Given the description of an element on the screen output the (x, y) to click on. 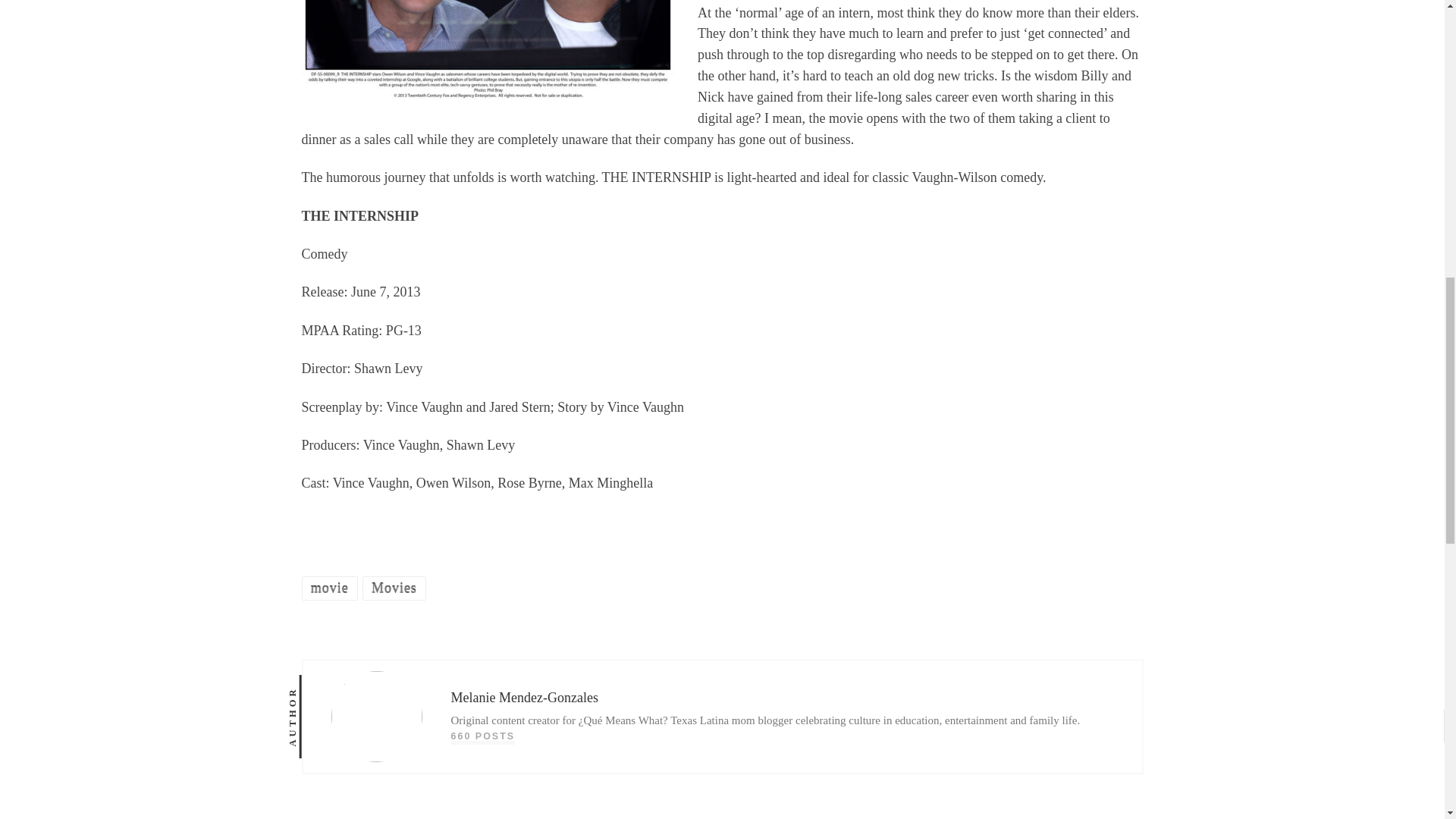
View all posts in Movies (394, 587)
View all the posts of the author (482, 736)
View all posts in movie (329, 587)
